Given the description of an element on the screen output the (x, y) to click on. 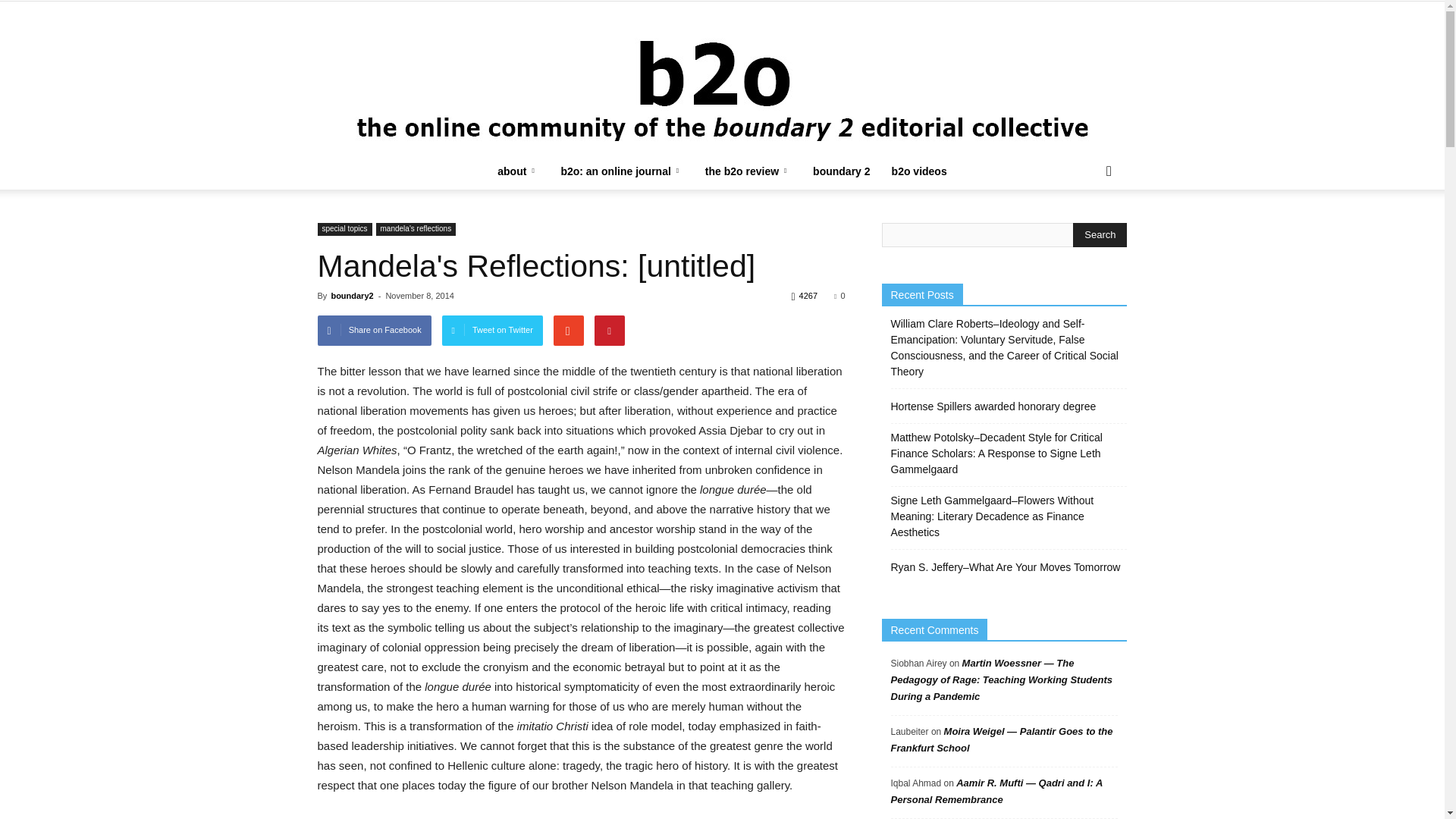
Search (1099, 234)
about (518, 171)
